Given the description of an element on the screen output the (x, y) to click on. 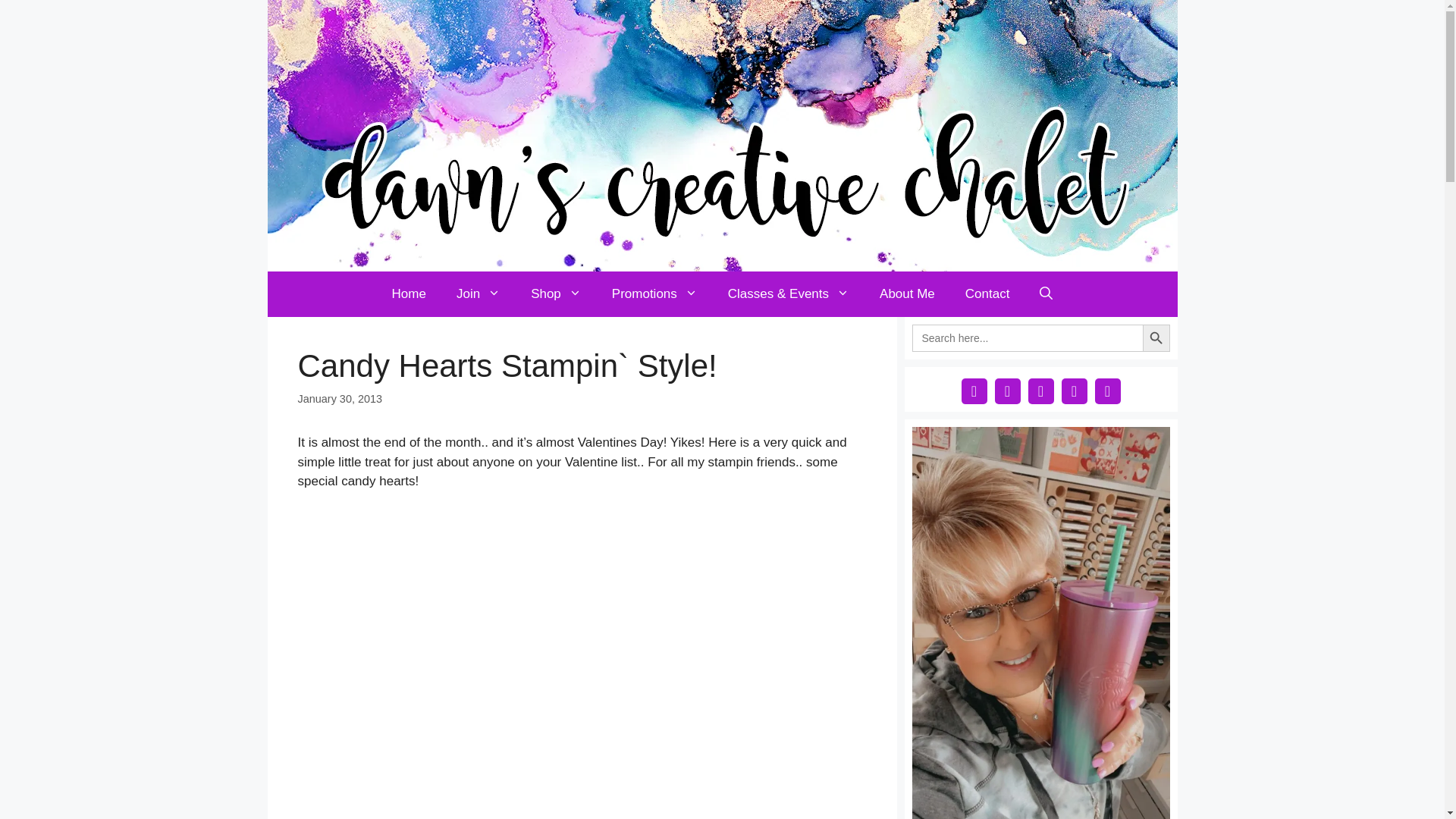
Home (409, 293)
Shop (555, 293)
Join (478, 293)
Promotions (654, 293)
About Me (907, 293)
Contact (987, 293)
